Given the description of an element on the screen output the (x, y) to click on. 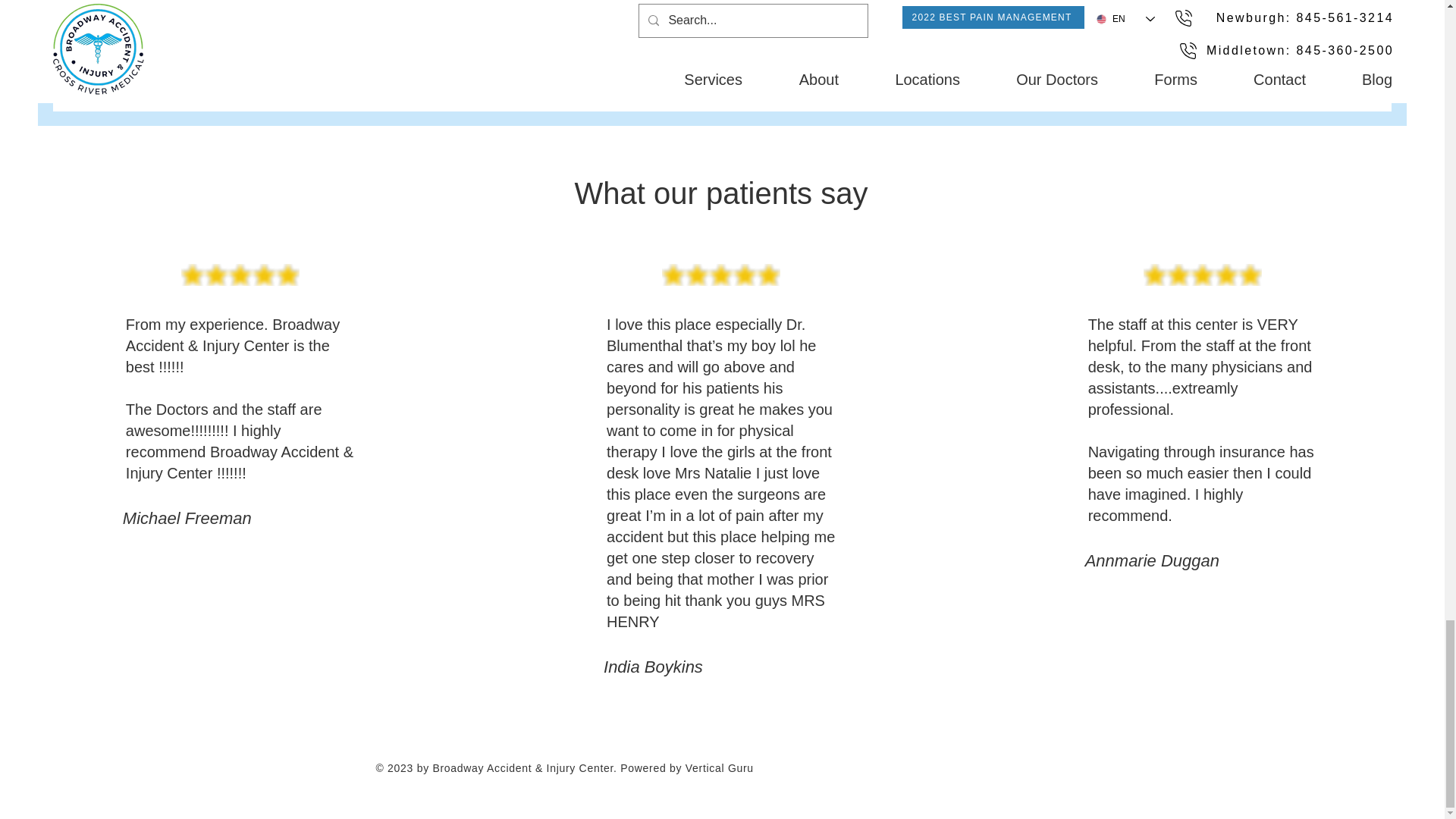
Vertical Guru (719, 767)
BOOK APPOINTMENT (381, 40)
BOOK APPOINTMENT (1056, 40)
